Given the description of an element on the screen output the (x, y) to click on. 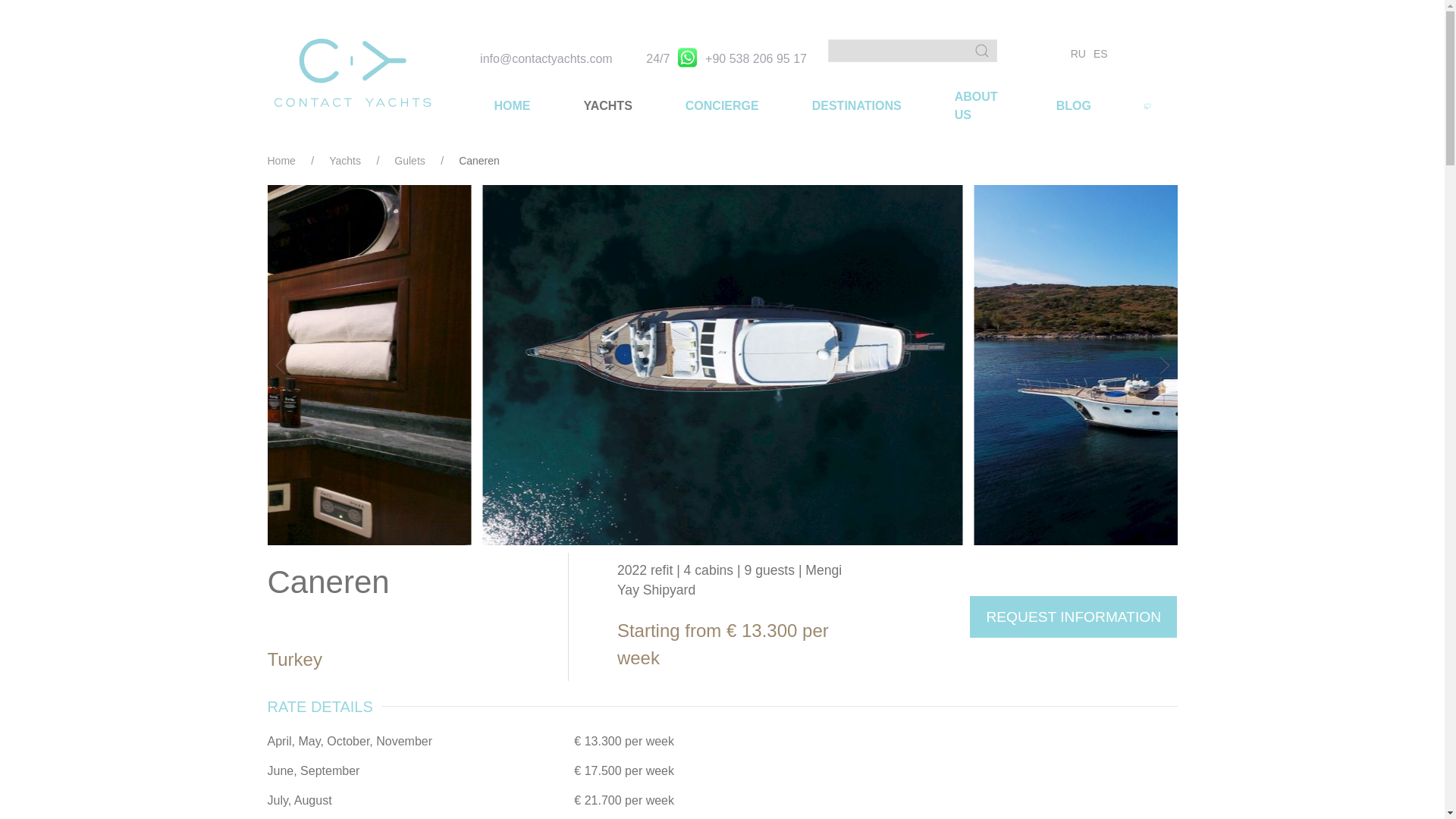
ES (1100, 53)
HOME (511, 106)
RU (1078, 53)
YACHTS (607, 106)
